Given the description of an element on the screen output the (x, y) to click on. 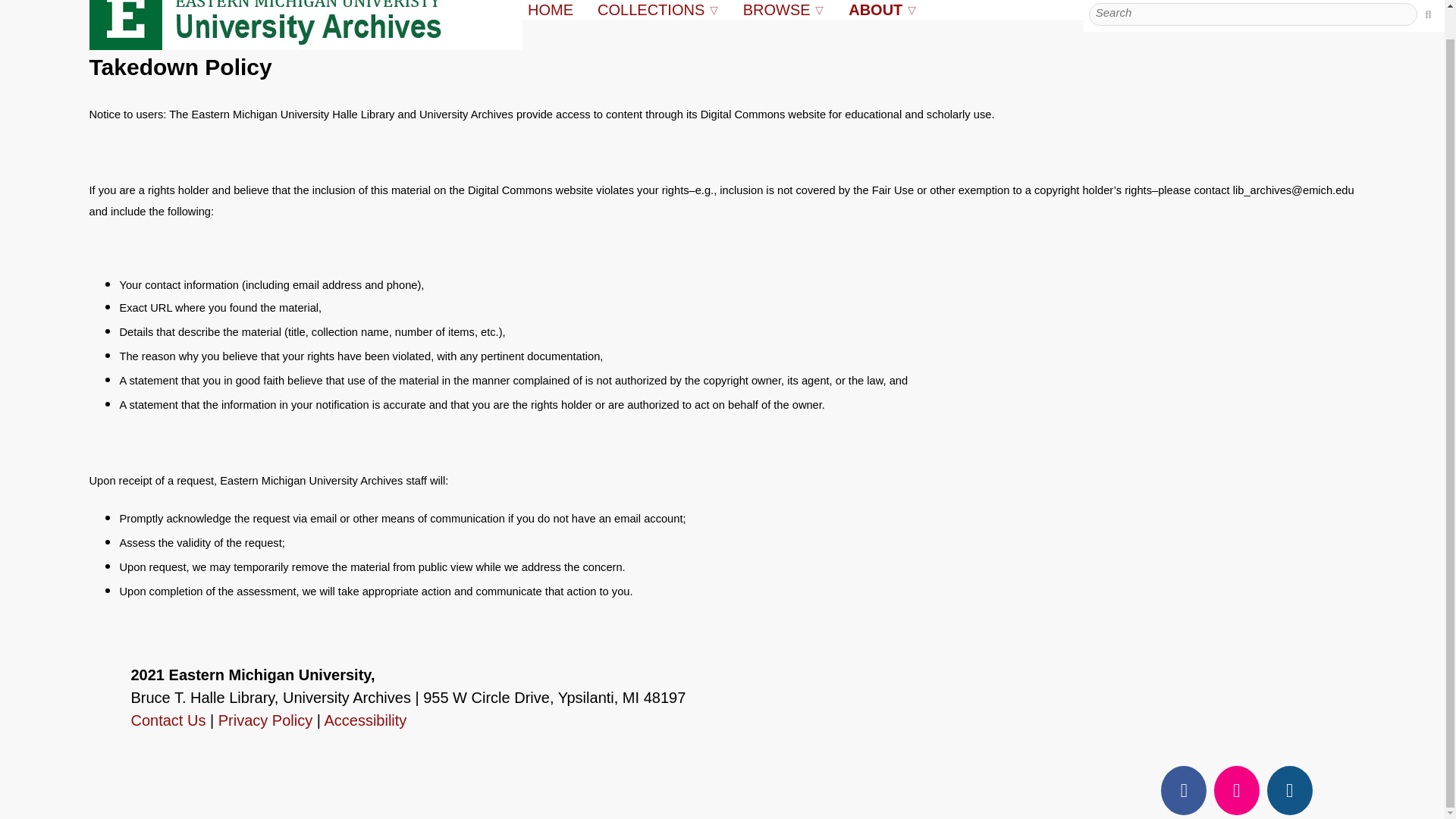
COLLECTIONS (652, 9)
BROWSE (777, 9)
HOME (550, 9)
